Given the description of an element on the screen output the (x, y) to click on. 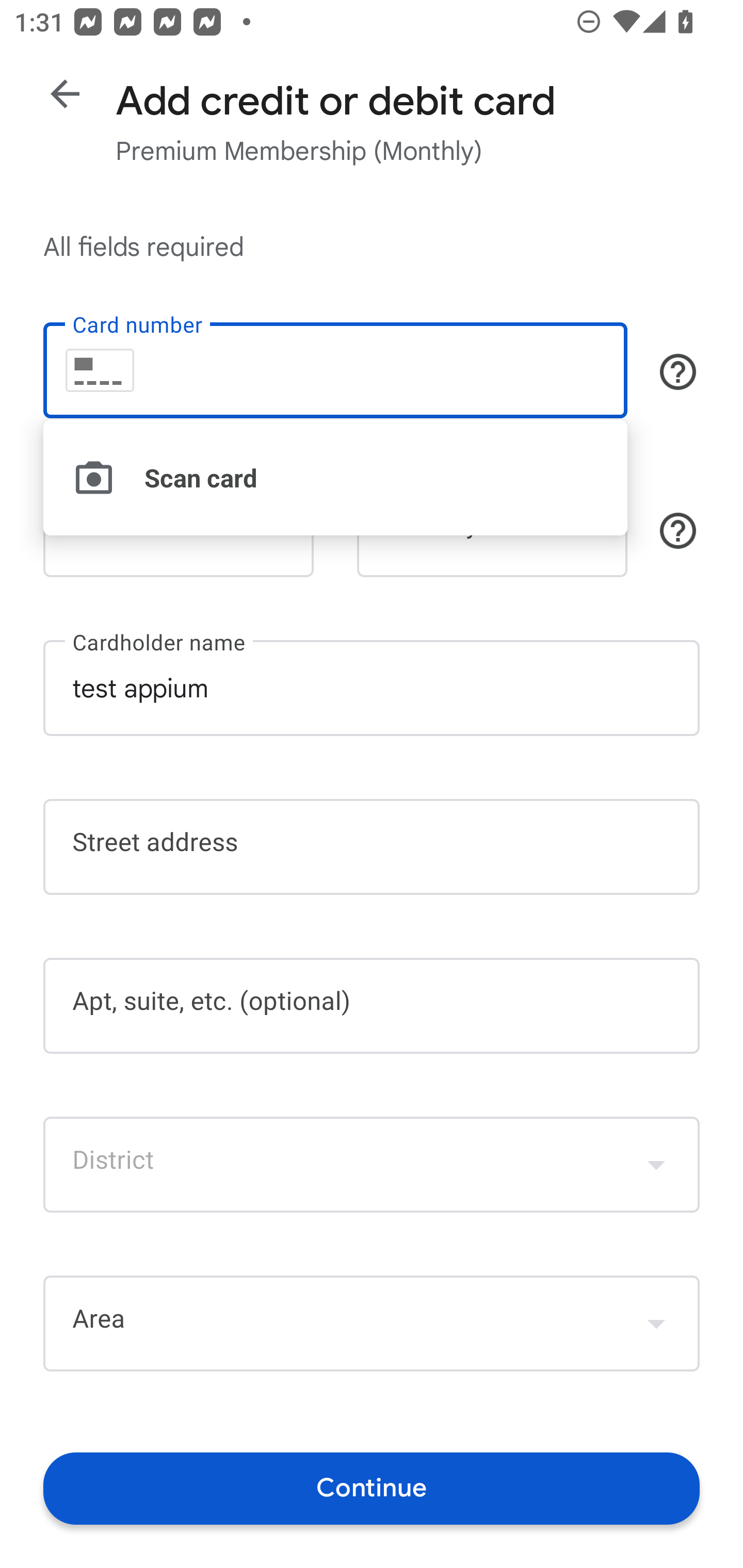
Back (64, 93)
Card number (335, 370)
Button, shows cards that are accepted for payment (677, 371)
Security code help (677, 530)
test appium (371, 687)
Street address (371, 847)
Apt, suite, etc. (optional) (371, 1005)
District (371, 1164)
Show dropdown menu (655, 1164)
Area (371, 1323)
Show dropdown menu (655, 1323)
Continue (371, 1487)
